Given the description of an element on the screen output the (x, y) to click on. 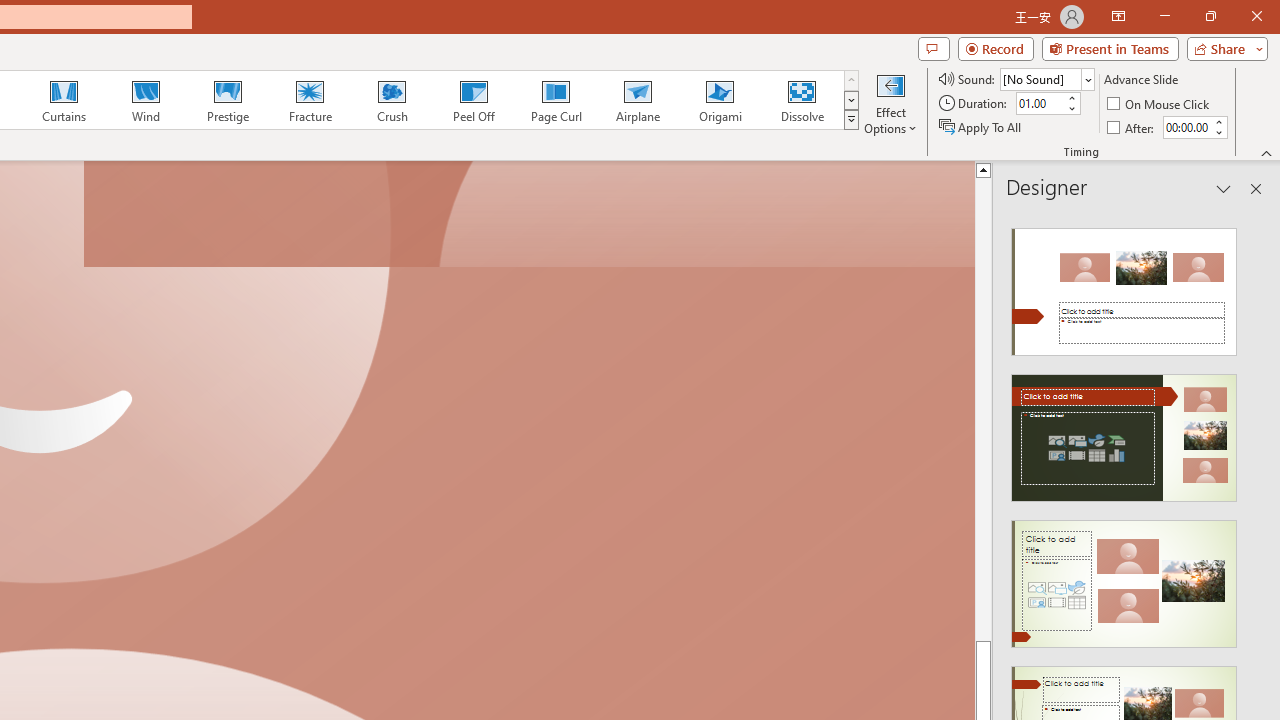
More (1218, 121)
Record (995, 48)
Effect Options (890, 102)
After (1131, 126)
Peel Off (473, 100)
Line up (983, 169)
Less (1218, 132)
Apply To All (981, 126)
Task Pane Options (1224, 188)
Ribbon Display Options (1118, 16)
Close (1256, 16)
Row up (850, 79)
Minimize (1164, 16)
Dissolve (802, 100)
